Given the description of an element on the screen output the (x, y) to click on. 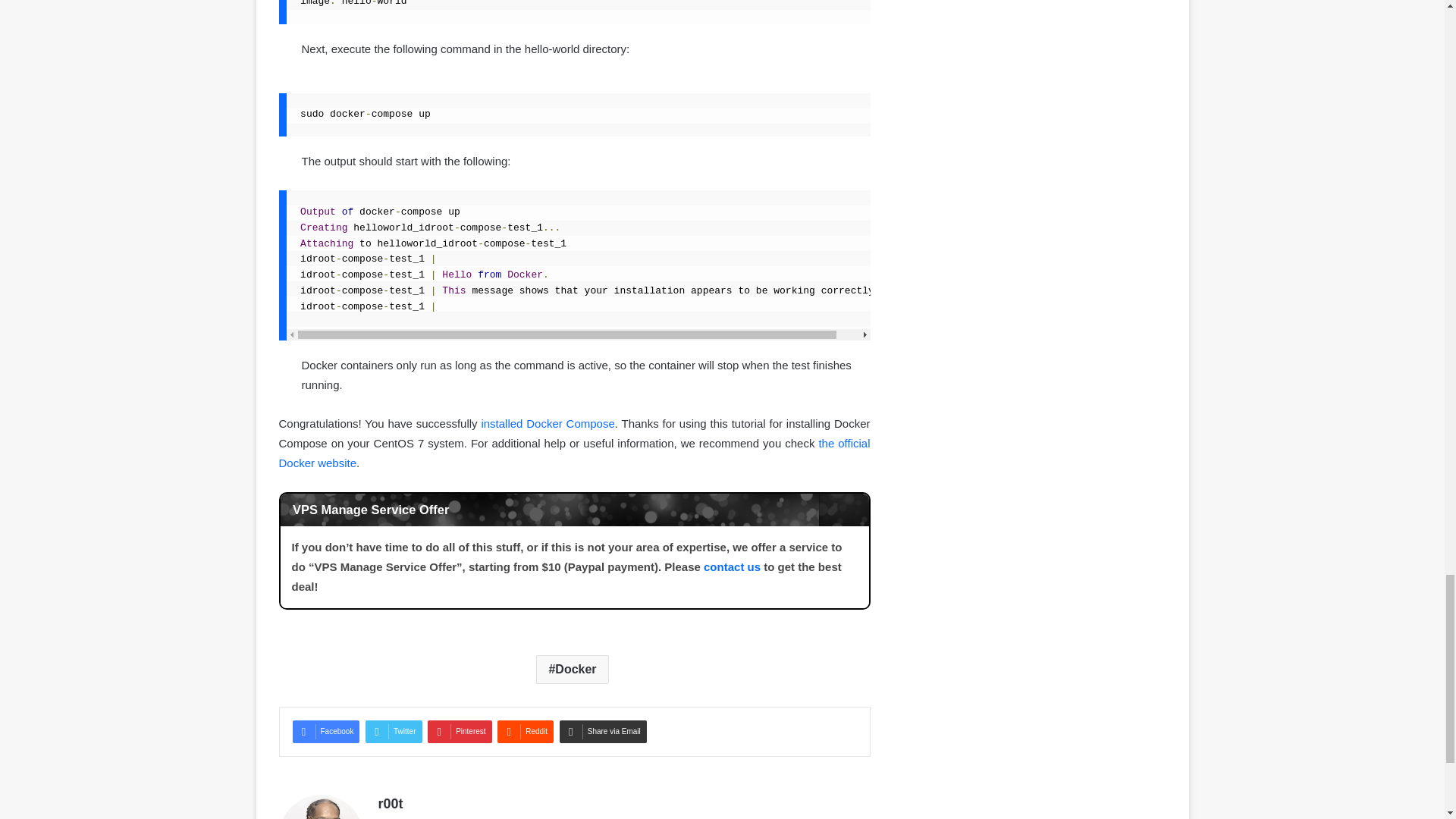
Twitter (393, 731)
Facebook (325, 731)
Reddit (525, 731)
contact us (731, 566)
Pinterest (460, 731)
installed Docker Compose (547, 422)
Share via Email (602, 731)
Pinterest (460, 731)
Reddit (525, 731)
Facebook (325, 731)
Share via Email (602, 731)
the official Docker website (574, 452)
r00t (390, 803)
Contact Us (731, 566)
Twitter (393, 731)
